Given the description of an element on the screen output the (x, y) to click on. 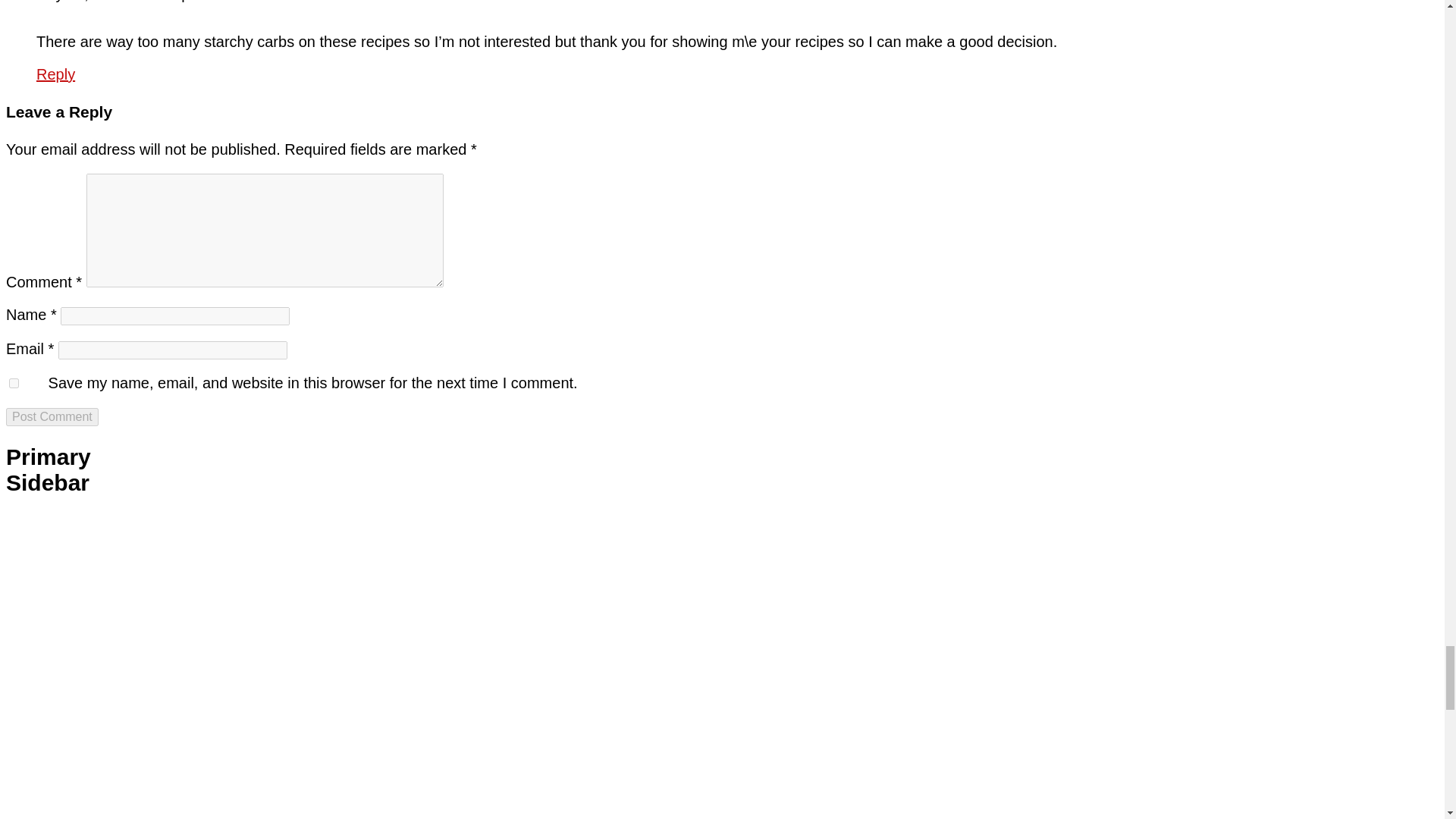
yes (13, 382)
Post Comment (52, 416)
